Given the description of an element on the screen output the (x, y) to click on. 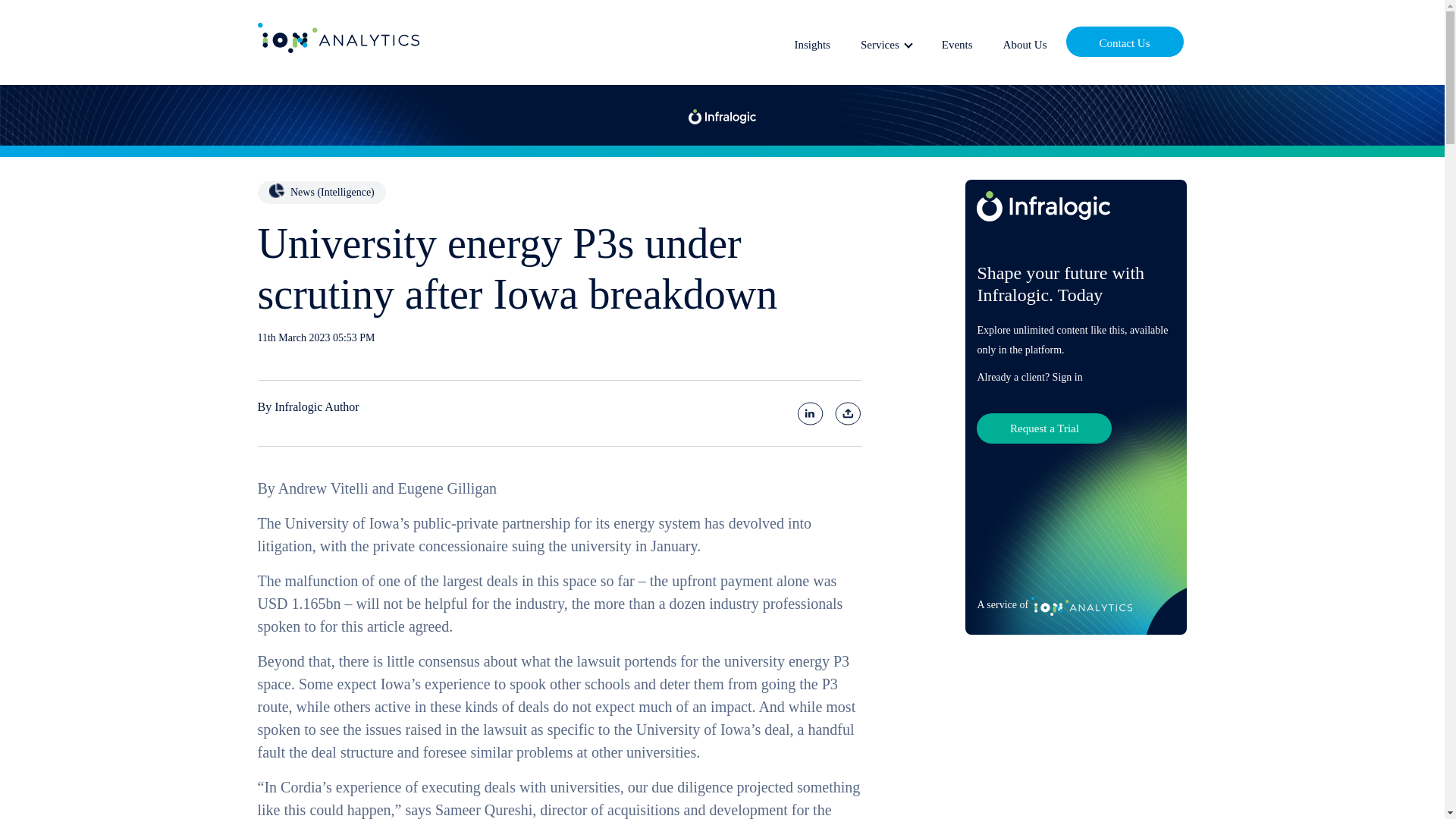
Events (957, 42)
Insights (812, 42)
About Us (1024, 42)
Request a Trial (1044, 428)
Contact Us (1124, 41)
Services (885, 42)
Sign in (1067, 377)
